Given the description of an element on the screen output the (x, y) to click on. 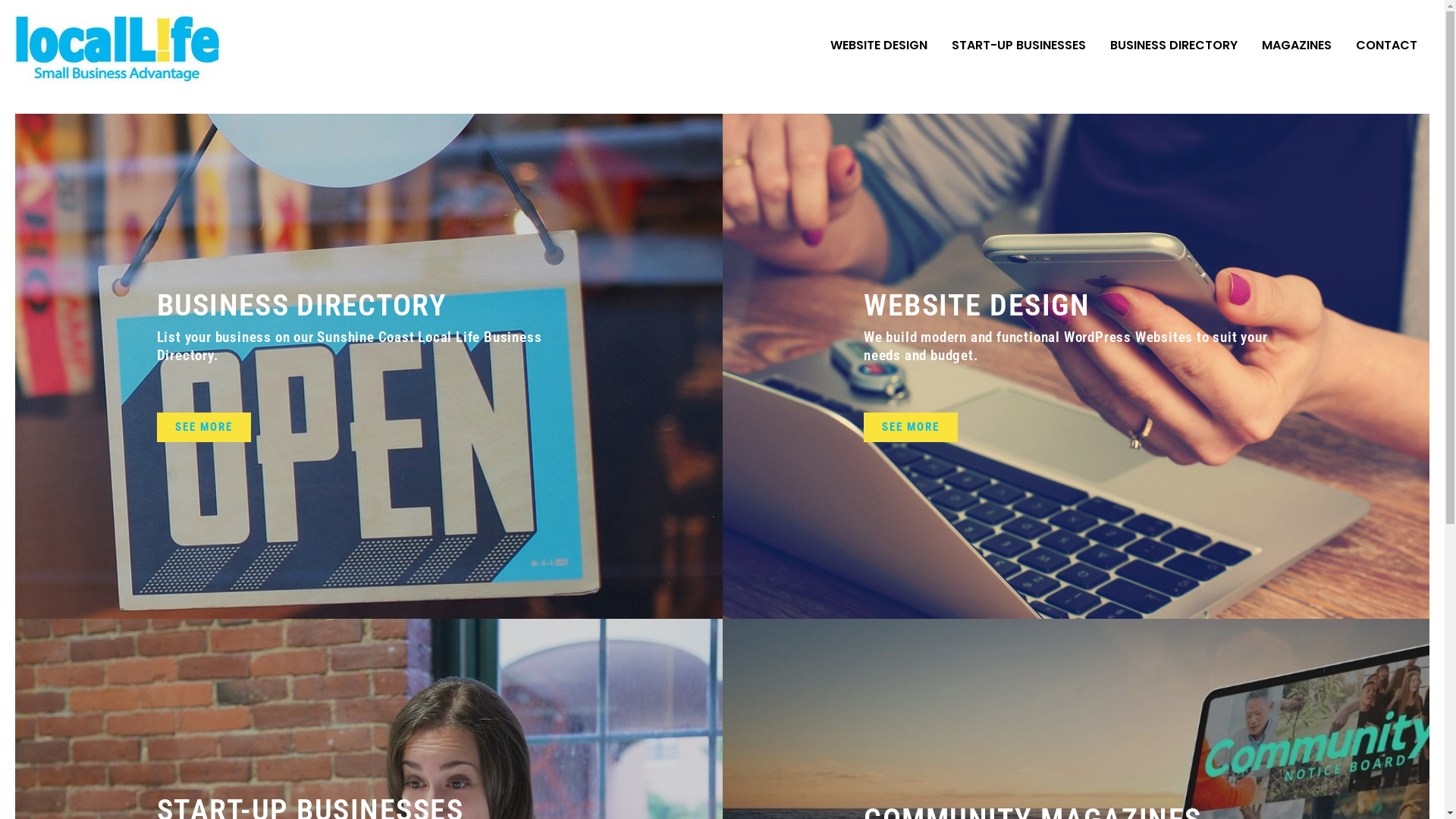
SEE MORE Element type: text (910, 427)
SEE MORE Element type: text (203, 427)
MAGAZINES Element type: text (1296, 45)
BUSINESS DIRECTORY Element type: text (1173, 45)
WEBSITE DESIGN Element type: text (976, 305)
BUSINESS DIRECTORY Element type: text (300, 305)
WEBSITE DESIGN Element type: text (878, 45)
CONTACT Element type: text (1386, 45)
START-UP BUSINESSES Element type: text (1018, 45)
